Given the description of an element on the screen output the (x, y) to click on. 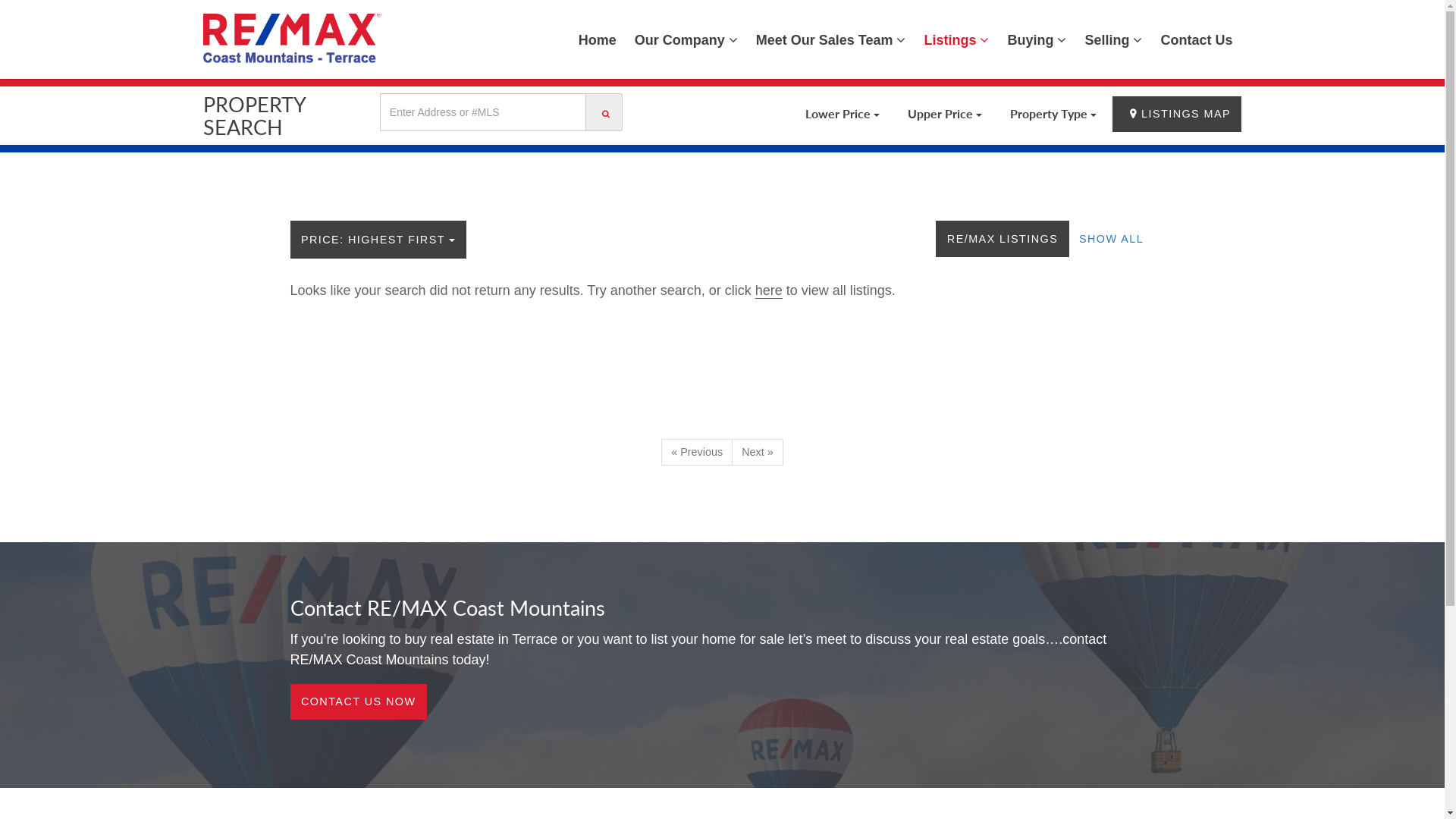
Our Company Element type: text (685, 39)
SHOW ALL Element type: text (1111, 238)
Selling Element type: text (1113, 39)
CONTACT US NOW Element type: text (357, 701)
Contact Us Element type: text (1196, 39)
RE/MAX LISTINGS Element type: text (1001, 238)
Buying Element type: text (1036, 39)
LISTINGS MAP Element type: text (1177, 113)
Property Type Element type: text (1052, 113)
here Element type: text (768, 290)
Lower Price Element type: text (842, 113)
Upper Price Element type: text (944, 113)
Meet Our Sales Team Element type: text (830, 39)
PRICE: HIGHEST FIRST Element type: text (377, 238)
Home Element type: text (597, 39)
Listings Element type: text (955, 39)
Remax Terrace Element type: hover (292, 37)
